Given the description of an element on the screen output the (x, y) to click on. 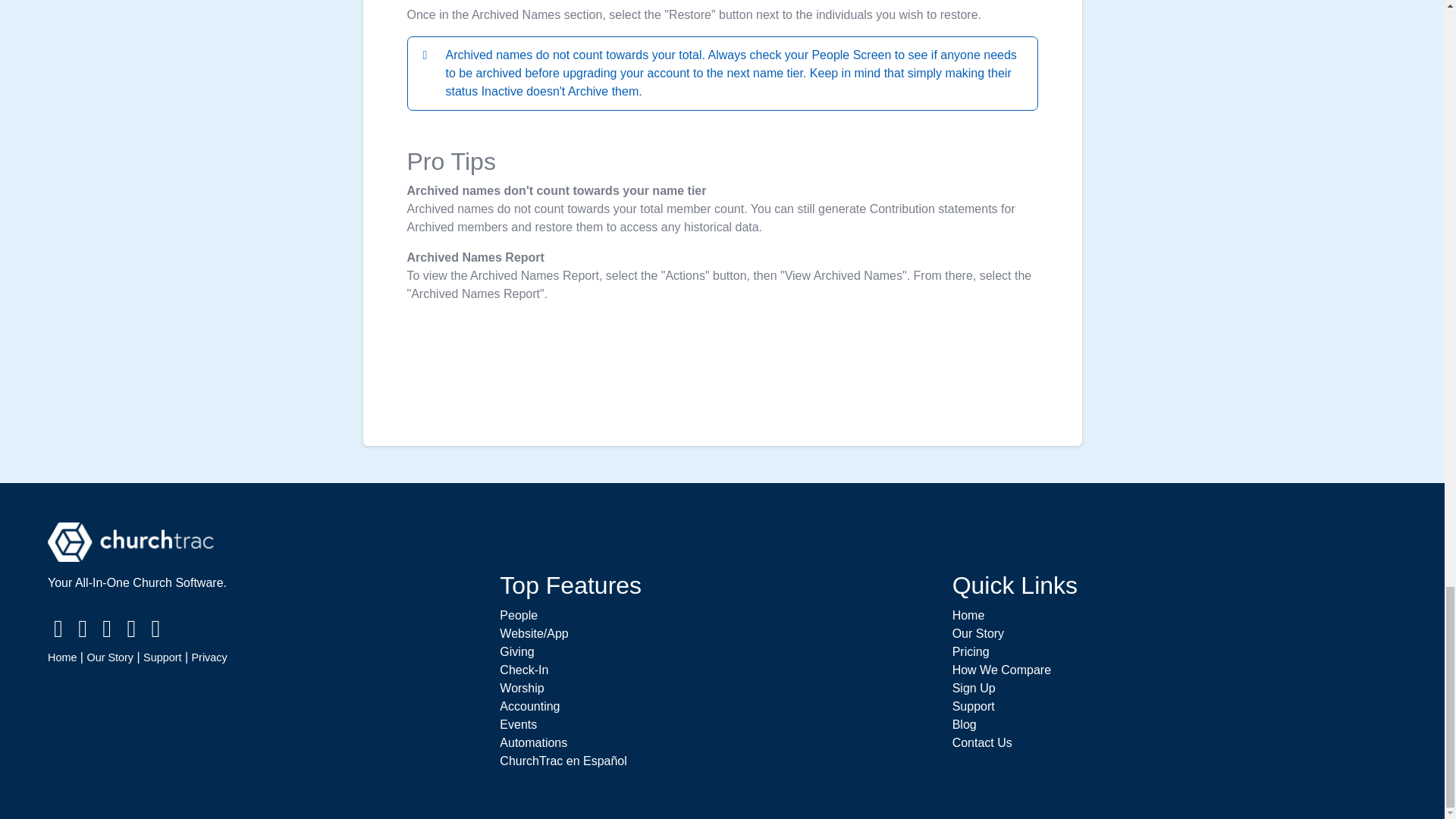
Our Story (109, 657)
Worship (521, 687)
Sign Up (973, 687)
Pinterest (106, 632)
Events (518, 724)
Youtube (130, 632)
Vimeo (156, 632)
Blog (964, 724)
Giving (516, 651)
Automations (533, 742)
Accounting (529, 706)
Facebook (58, 632)
Our Story (978, 633)
People (518, 615)
Twitter (82, 632)
